Given the description of an element on the screen output the (x, y) to click on. 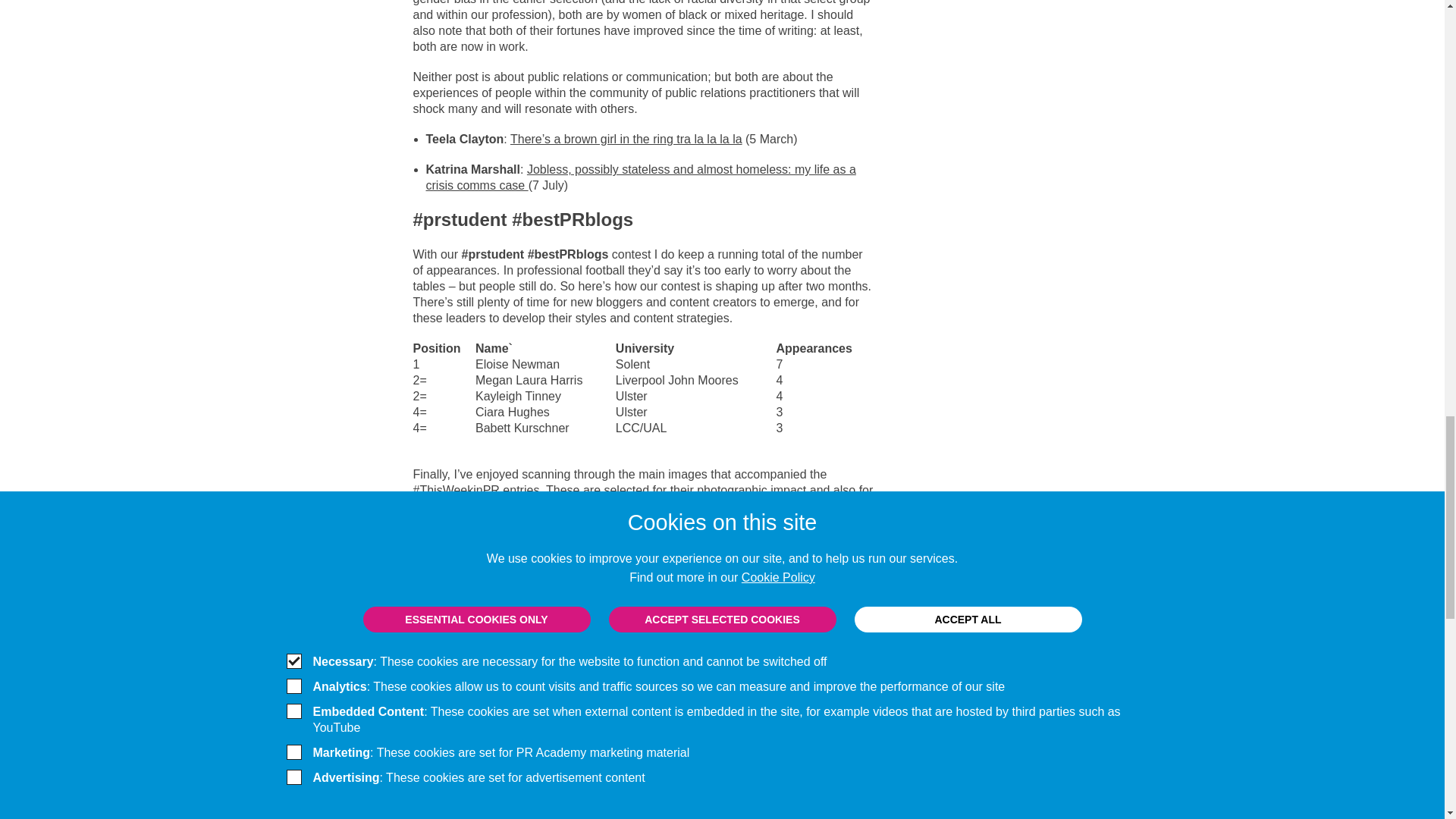
BACK TO TOP (999, 811)
